Given the description of an element on the screen output the (x, y) to click on. 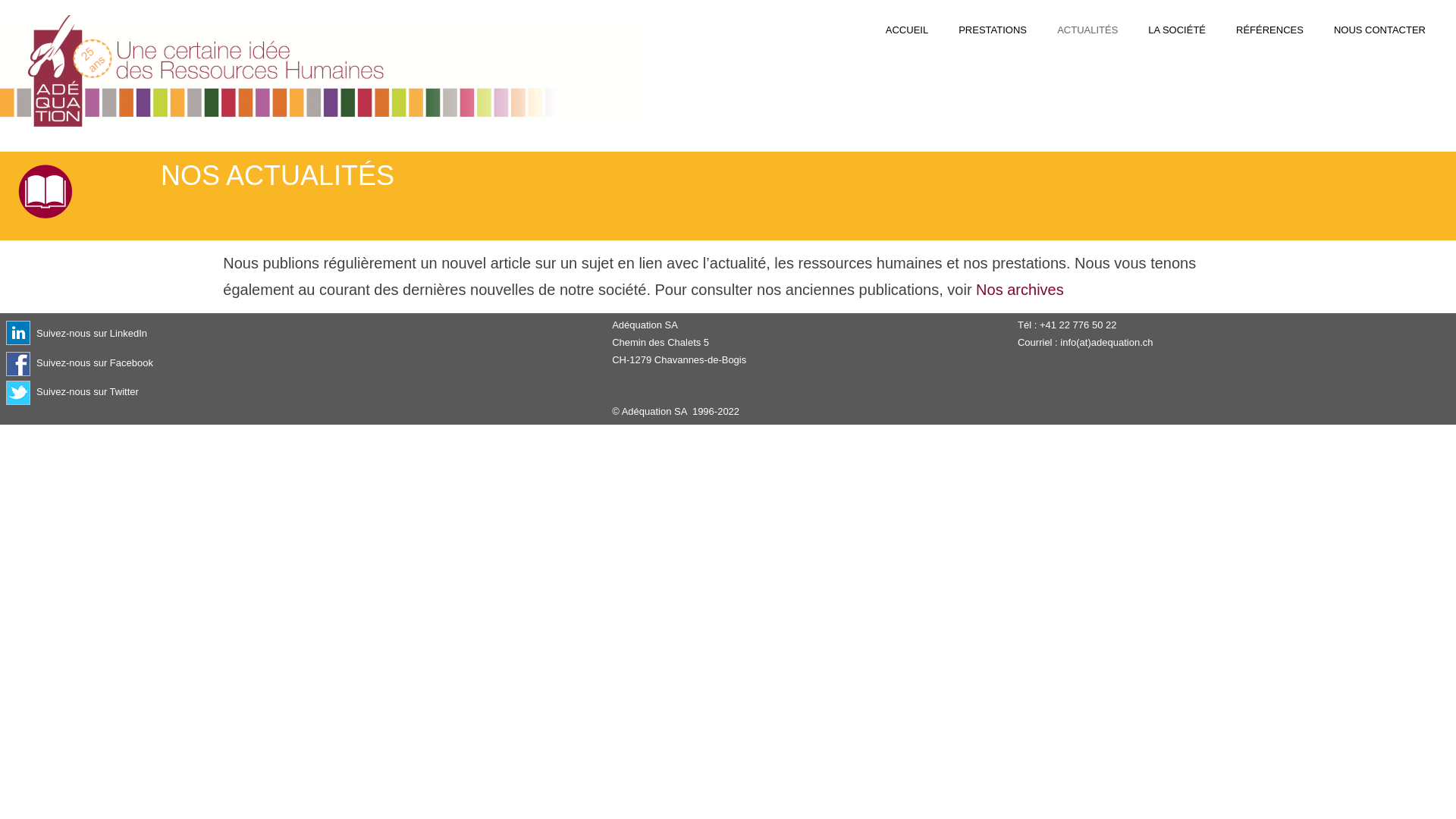
Nos archives Element type: text (1019, 289)
PRESTATIONS Element type: text (992, 29)
Suivez-nous sur LinkedIn Element type: text (91, 332)
Suivez-nous sur Facebook Element type: text (94, 363)
Suivez-nous sur Twitter Element type: text (87, 392)
NOUS CONTACTER Element type: text (1379, 29)
ACCUEIL Element type: text (906, 29)
